Given the description of an element on the screen output the (x, y) to click on. 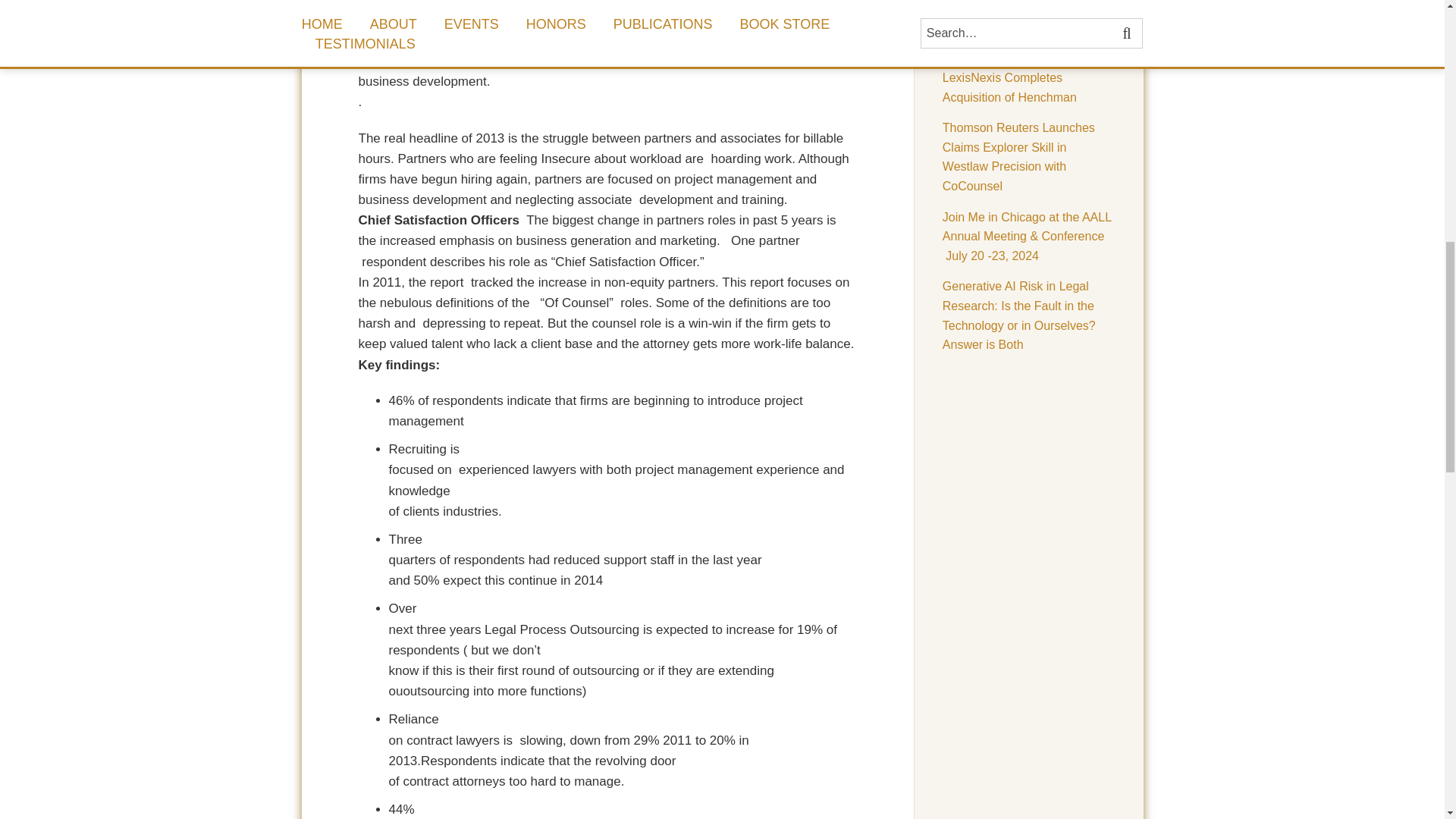
LexisNexis Completes Acquisition of Henchman (1009, 87)
